Given the description of an element on the screen output the (x, y) to click on. 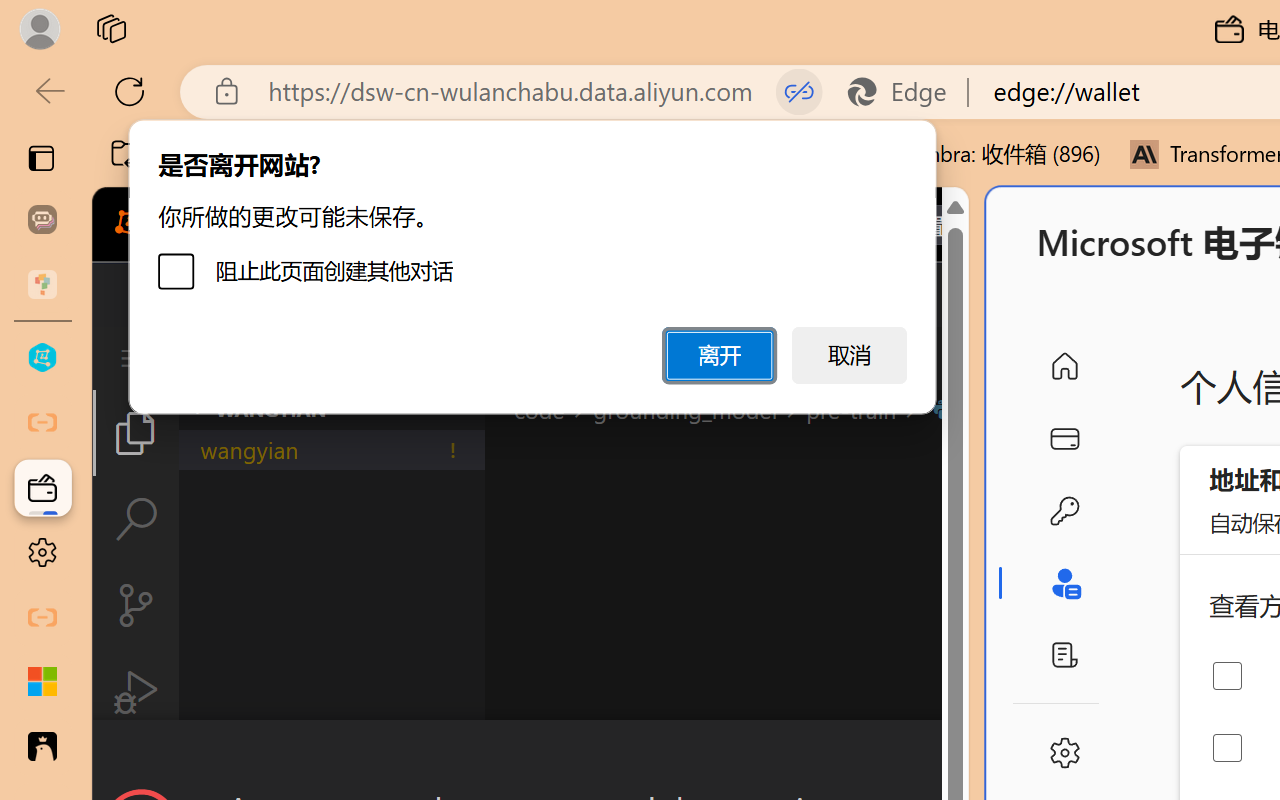
Run and Debug (Ctrl+Shift+D) (135, 692)
Close Dialog (959, 756)
Class: actions-container (529, 756)
